Given the description of an element on the screen output the (x, y) to click on. 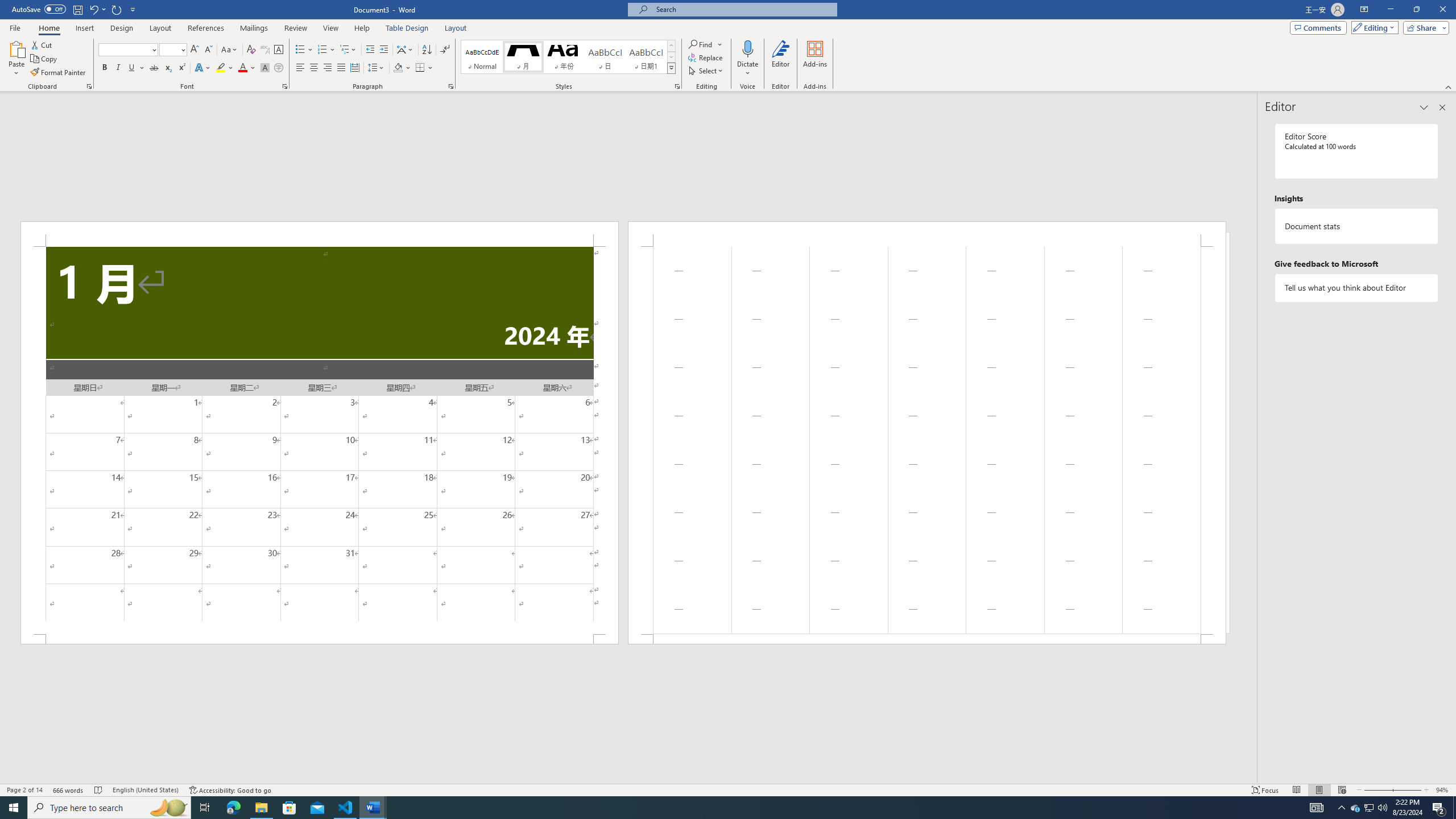
Tell us what you think about Editor (1356, 288)
